Given the description of an element on the screen output the (x, y) to click on. 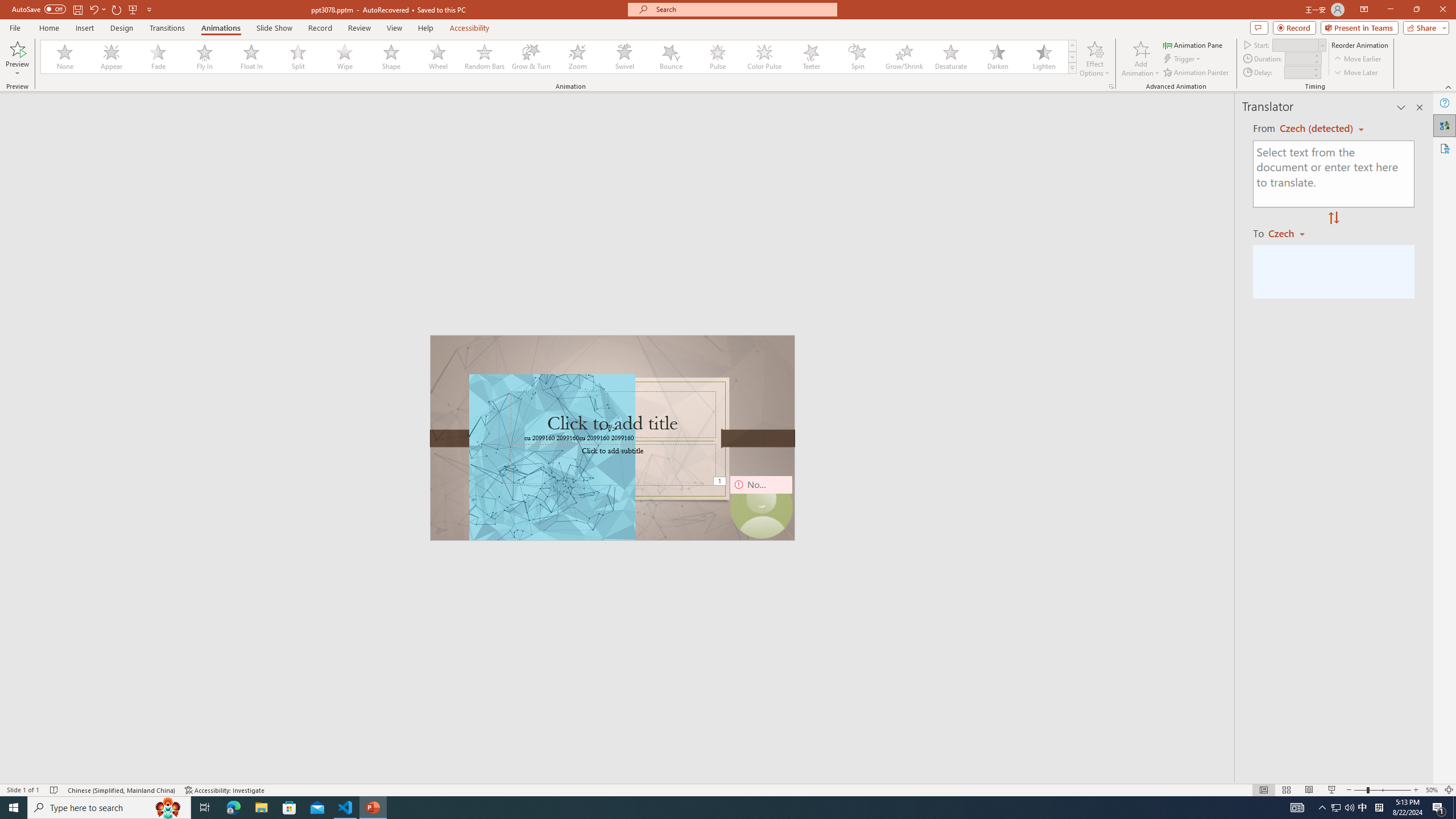
Wipe (344, 56)
Animation Painter (1196, 72)
AutomationID: AnimationGallery (558, 56)
Row up (1071, 45)
Open (1321, 44)
Fade (158, 56)
Camera 9, No camera detected. (761, 506)
Split (298, 56)
Translator (1444, 125)
